Given the description of an element on the screen output the (x, y) to click on. 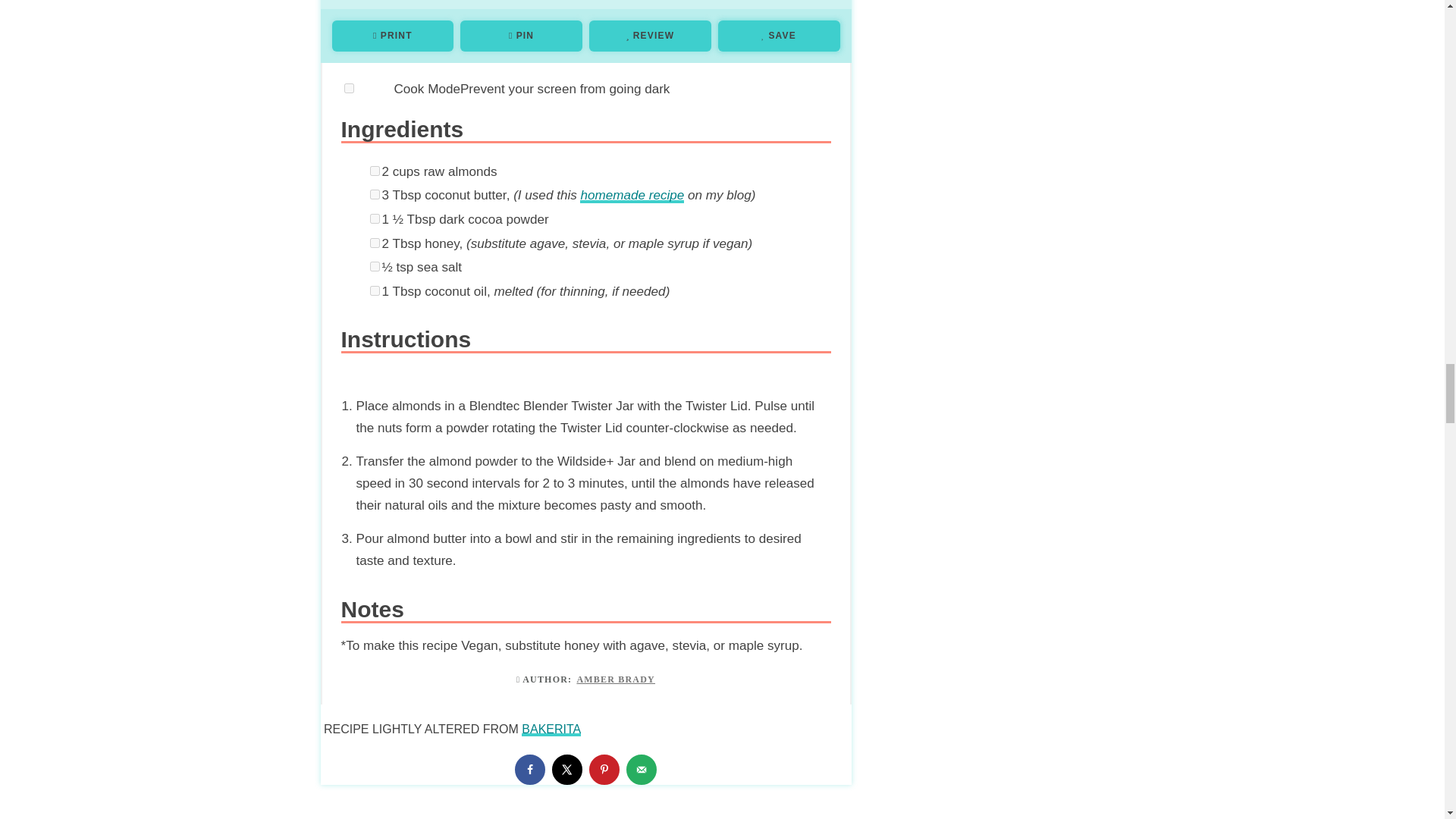
Send over email (641, 769)
on (374, 243)
on (374, 266)
Share on Facebook (529, 769)
Save to Pinterest (604, 769)
on (374, 290)
on (374, 194)
on (374, 218)
Share on X (566, 769)
on (374, 171)
